Given the description of an element on the screen output the (x, y) to click on. 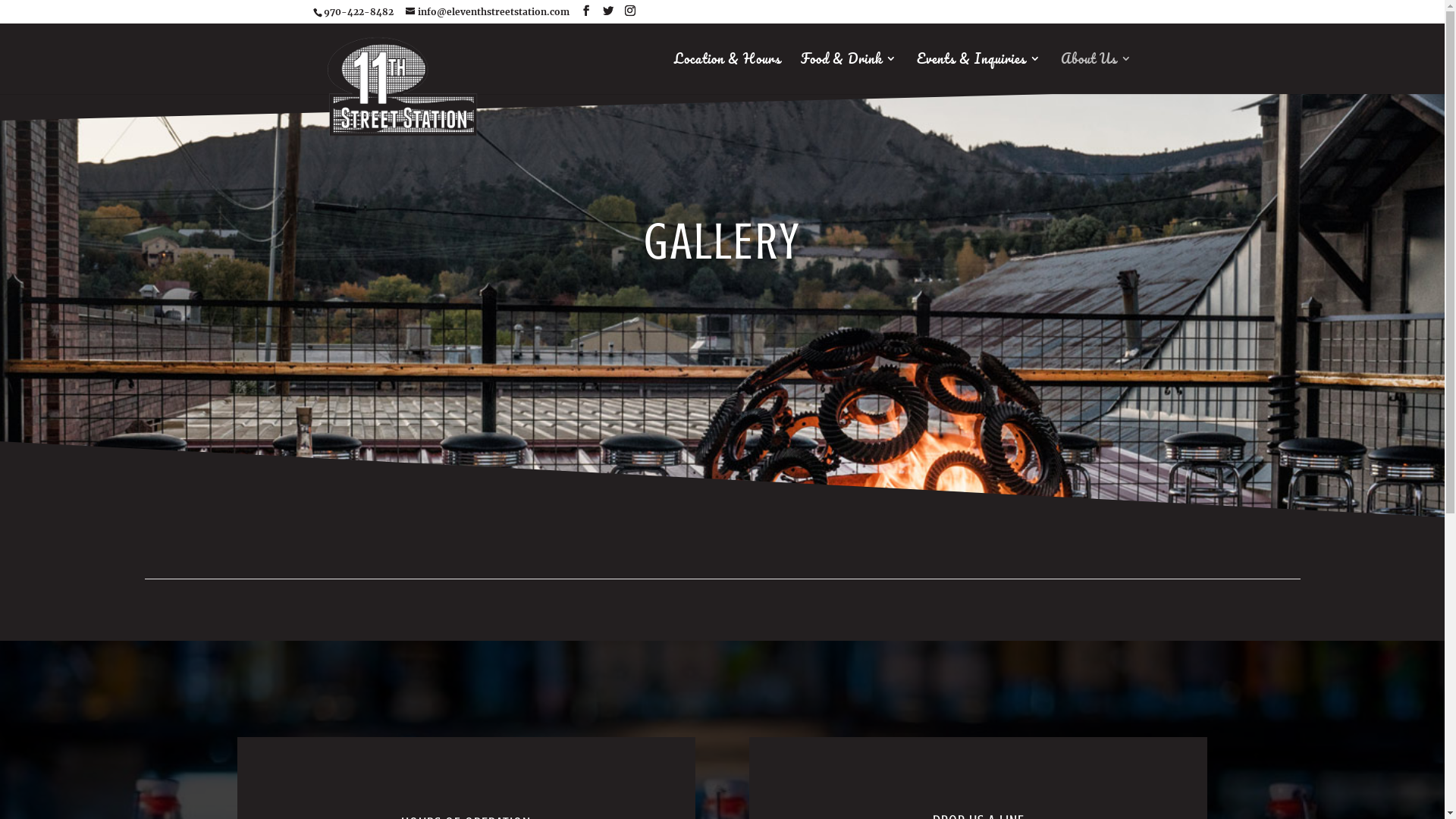
About Us Element type: text (1095, 73)
Location & Hours Element type: text (726, 73)
Food & Drink Element type: text (848, 73)
Events & Inquiries Element type: text (978, 73)
info@eleventhstreetstation.com Element type: text (486, 11)
